Given the description of an element on the screen output the (x, y) to click on. 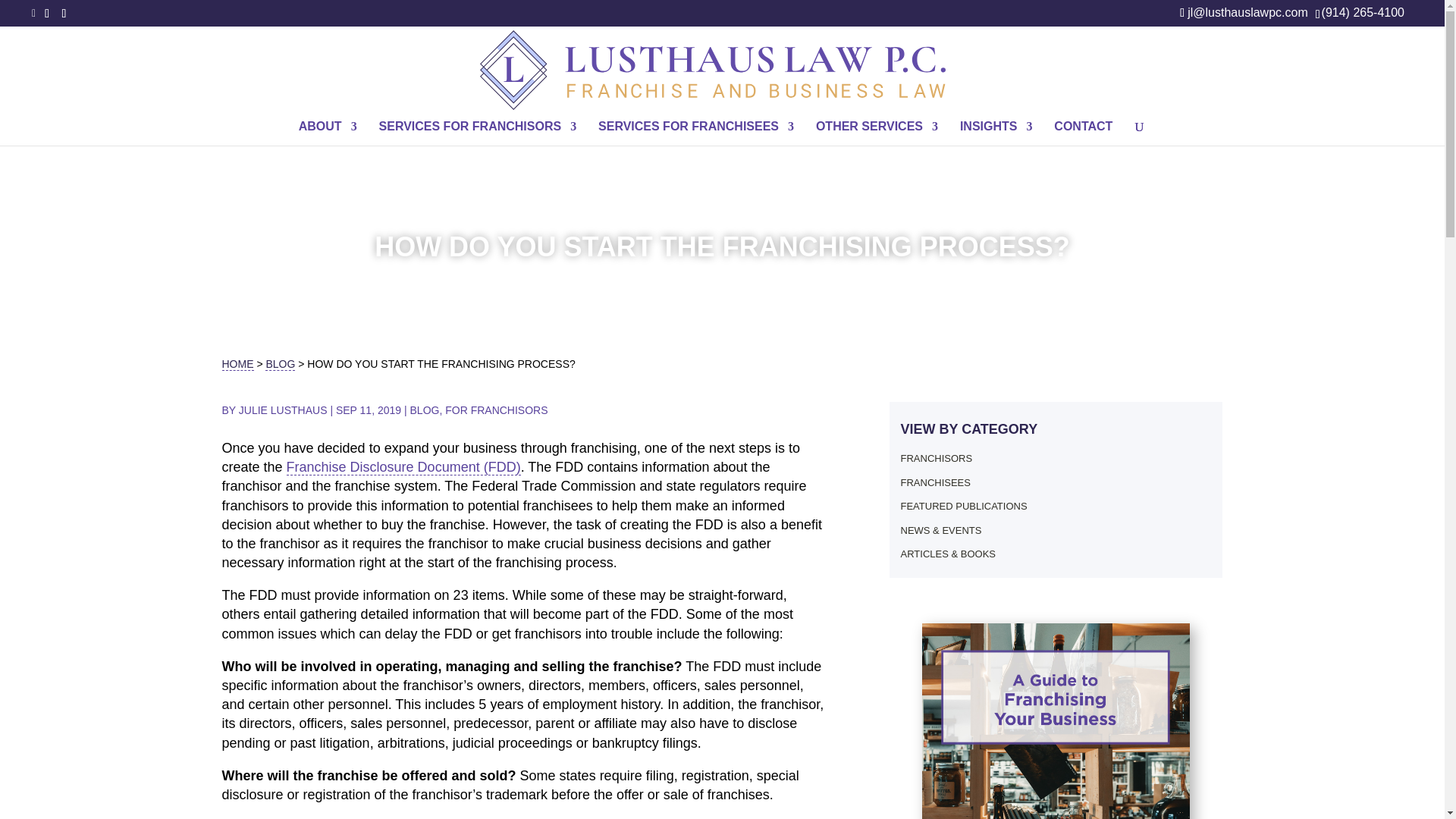
OTHER SERVICES (876, 133)
ABOUT (327, 133)
SERVICES FOR FRANCHISEES (695, 133)
SERVICES FOR FRANCHISORS (477, 133)
Posts by Julie Lusthaus (282, 410)
